Given the description of an element on the screen output the (x, y) to click on. 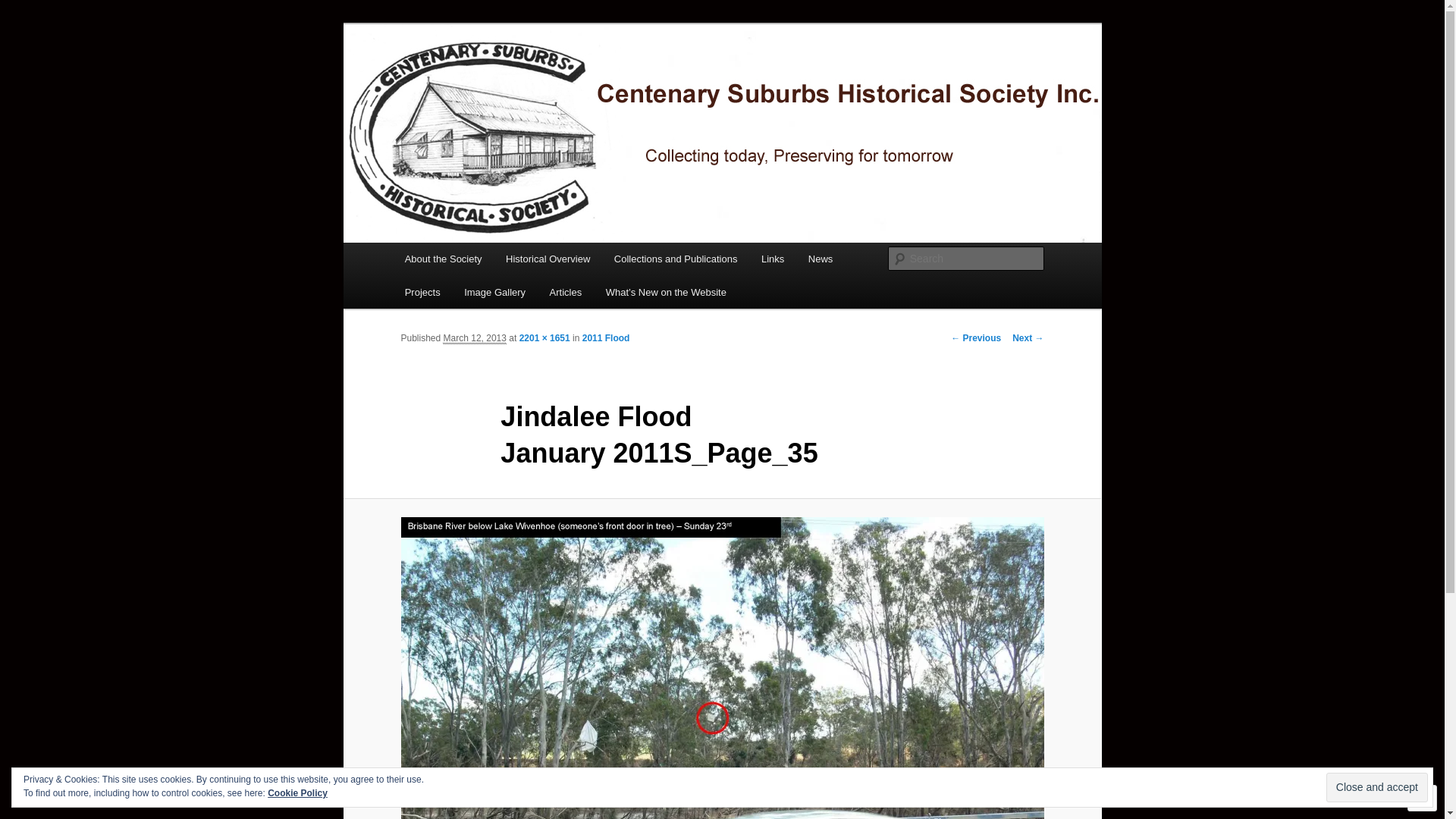
Historical Overview Element type: text (547, 258)
Close and accept Element type: text (1376, 787)
2011 Flood Element type: text (606, 337)
Skip to primary content Element type: text (22, 22)
About the Society Element type: text (442, 258)
News Element type: text (820, 258)
Search Element type: text (24, 8)
Articles Element type: text (565, 292)
Centenary Suburbs Historical Society Element type: text (603, 78)
Projects Element type: text (421, 292)
Links Element type: text (772, 258)
Collections and Publications Element type: text (675, 258)
Image Gallery Element type: text (493, 292)
Cookie Policy Element type: text (297, 792)
